Given the description of an element on the screen output the (x, y) to click on. 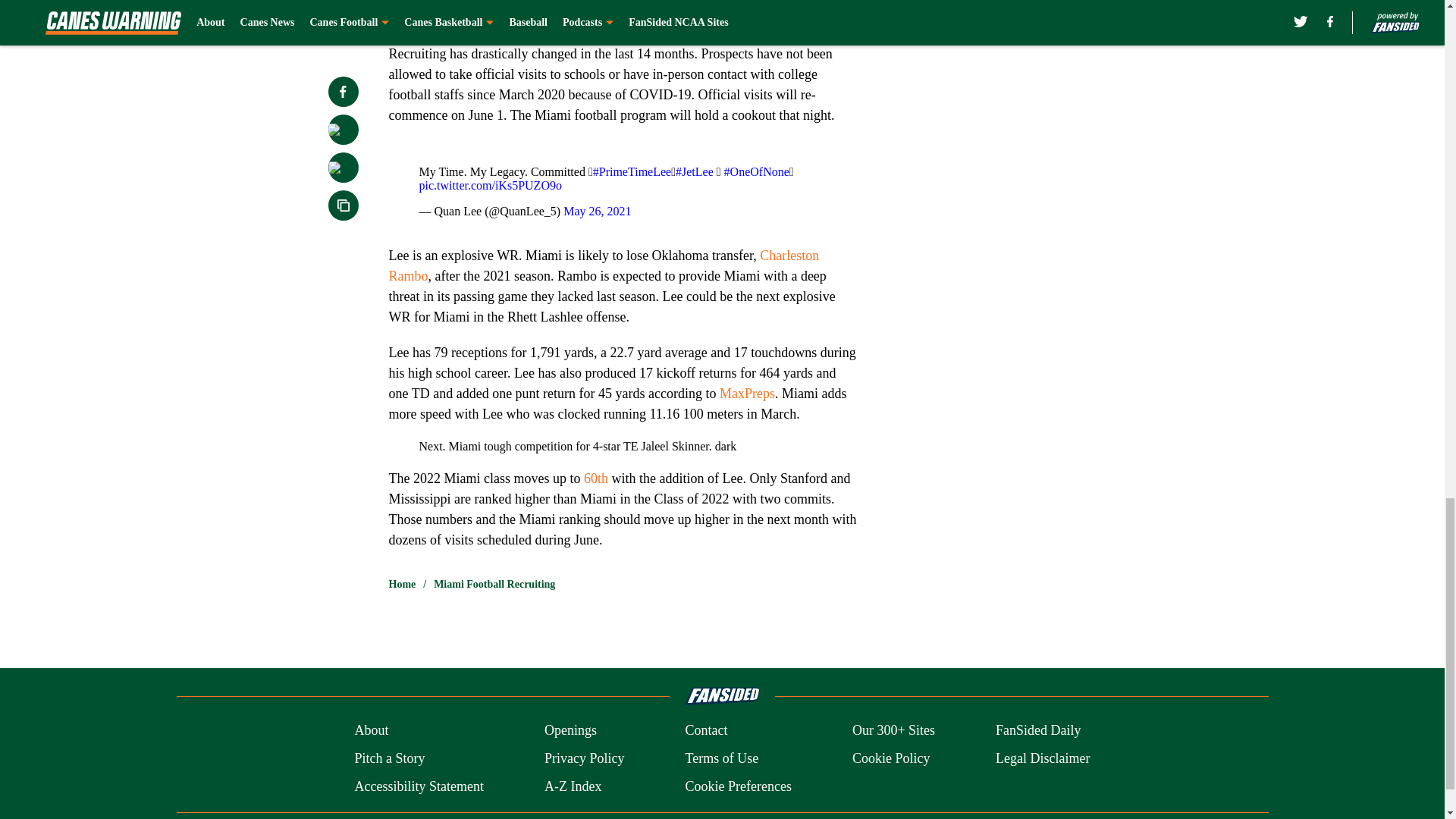
Miami Football Recruiting (493, 584)
May 26, 2021 (596, 210)
Openings (570, 730)
Home (401, 584)
Charleston Rambo (603, 265)
FanSided Daily (1038, 730)
About (370, 730)
MaxPreps (746, 393)
60th (595, 478)
Contact (705, 730)
